Given the description of an element on the screen output the (x, y) to click on. 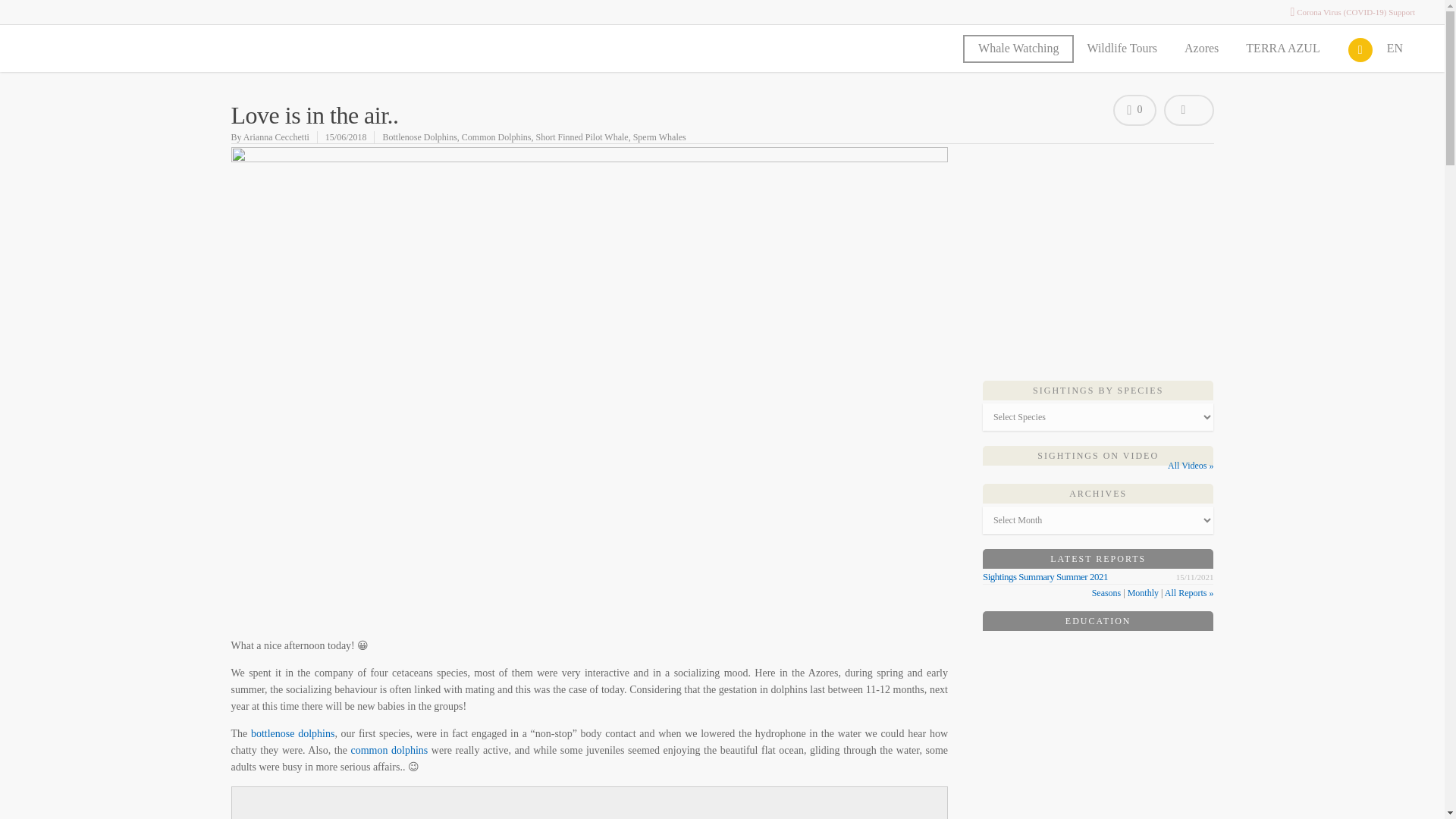
Whale Watching (1018, 52)
Permalink to Sightings Summary Summer 2021 (1045, 576)
TERRA AZUL (1289, 52)
Sightings on Video (1097, 455)
Bottlenose Dolphins (419, 136)
Posts by Arianna Cecchetti (275, 136)
Love this (1134, 110)
Sperm Whales (659, 136)
Common Dolphins (496, 136)
Wildlife Tours (1128, 52)
Short Finned Pilot Whale (581, 136)
Arianna Cecchetti (275, 136)
Education (1098, 620)
EN (1401, 52)
Latest Reports (1097, 558)
